Given the description of an element on the screen output the (x, y) to click on. 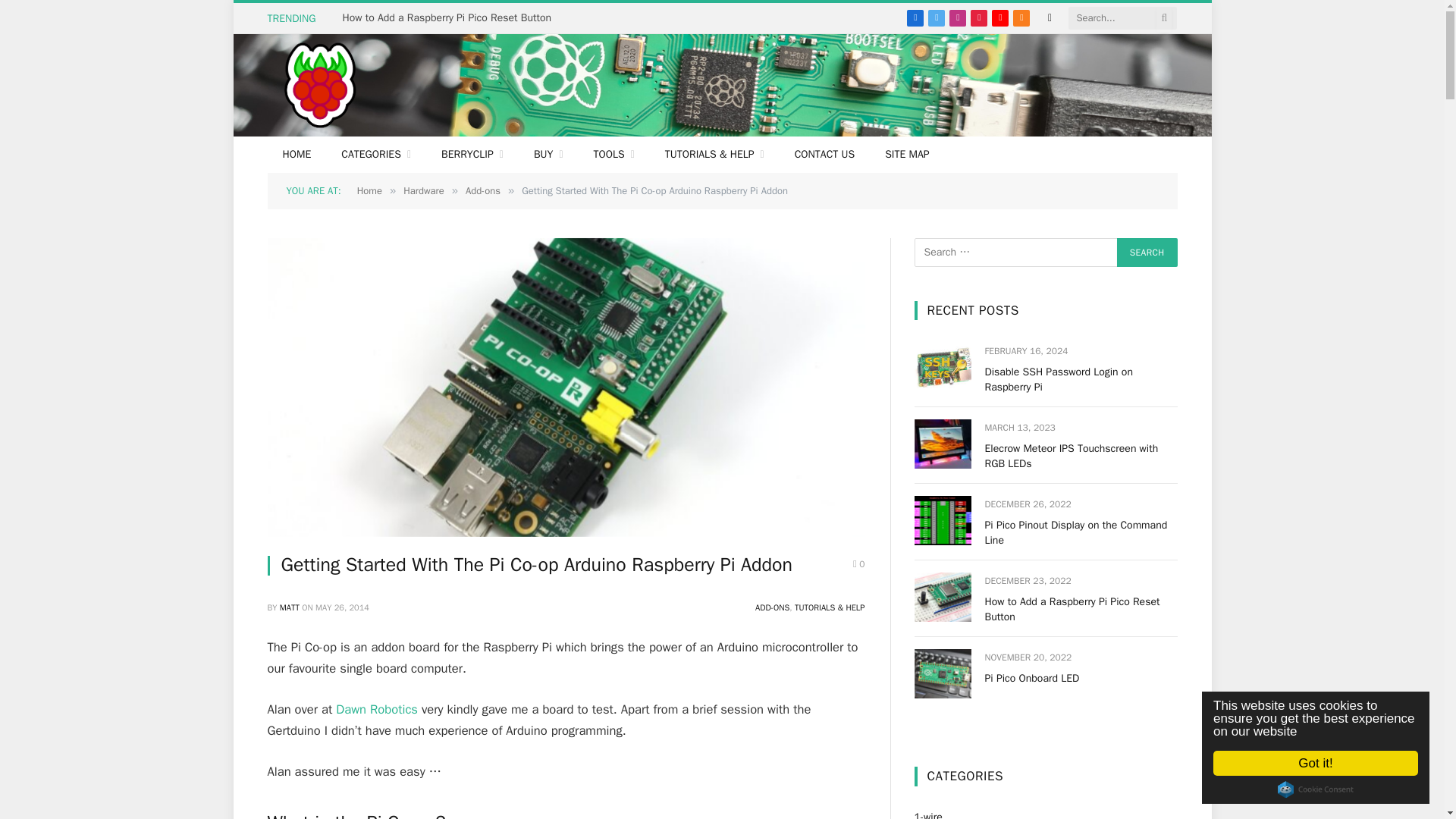
Instagram (957, 17)
2014-05-26 (342, 606)
Got it! (1329, 763)
Switch to Dark Design - easier on eyes. (1049, 18)
Pinterest (979, 17)
Search (1146, 252)
Facebook (915, 17)
How to Add a Raspberry Pi Pico Reset Button (450, 18)
Search (1146, 252)
BERRYCLIP (472, 154)
RSS (1021, 17)
Cookie Consent plugin for the EU cookie law (1330, 789)
Posts by Matt (289, 606)
Raspberry Pi Spy (319, 85)
